Given the description of an element on the screen output the (x, y) to click on. 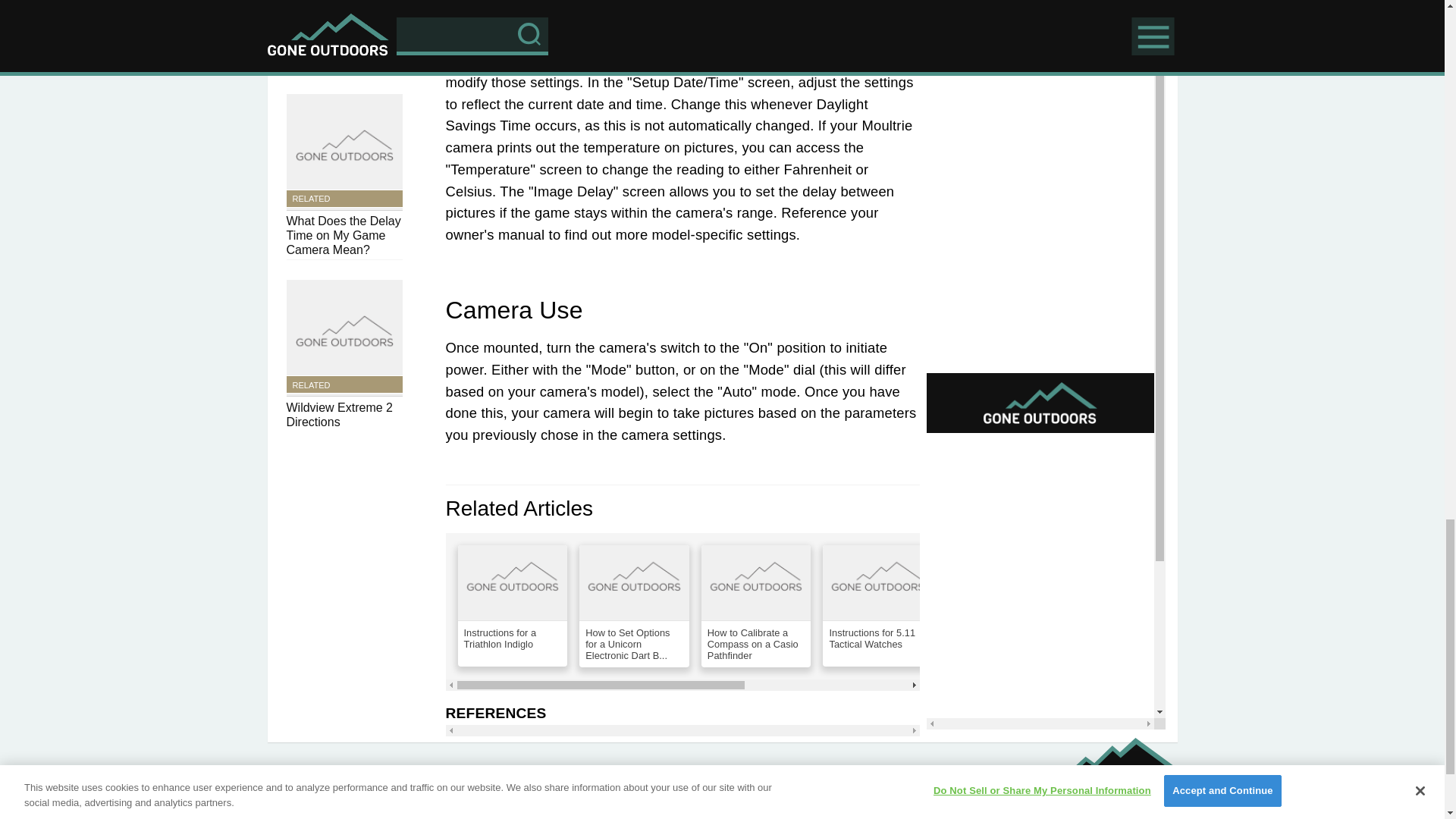
Instructions for 5.11 Tactical Watches (877, 605)
How to Adjust BSA Rifle Scopes (999, 605)
Instructions for a Triathlon Indiglo (512, 605)
How to Calibrate a Compass on a Casio Pathfinder (755, 606)
How to Turn on BSA Red Dot Scope (1121, 605)
How to Set Options for a Unicorn Electronic Dart B... (633, 606)
